Given the description of an element on the screen output the (x, y) to click on. 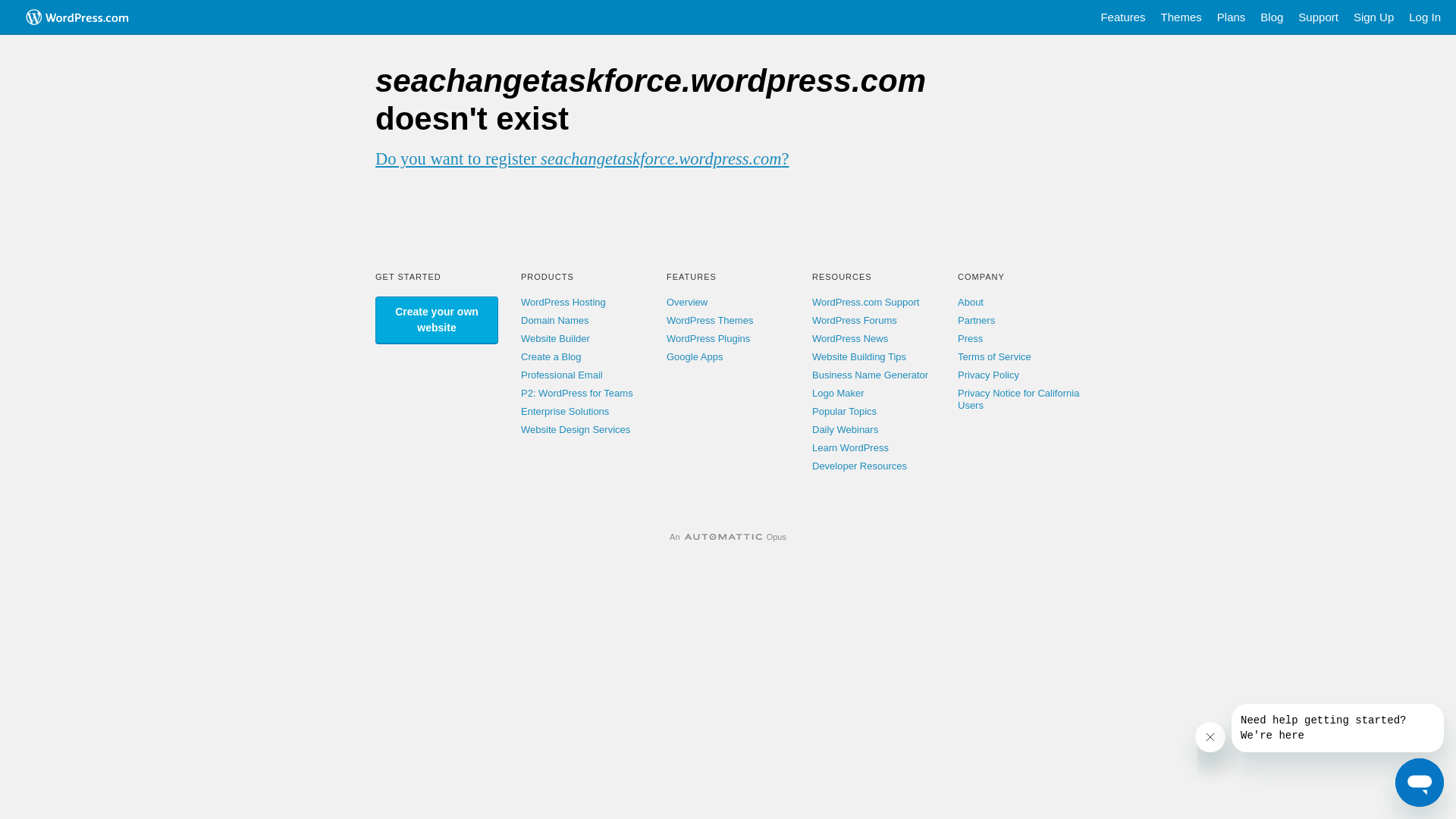
WordPress Forums Element type: text (854, 320)
Message from company Element type: hover (1337, 727)
Do you want to register seachangetaskforce.wordpress.com? Element type: text (582, 158)
Business Name Generator Element type: text (870, 374)
About Element type: text (970, 301)
Themes Element type: text (1181, 17)
Support Element type: text (1318, 17)
Privacy Notice for California Users Element type: text (1018, 399)
Website Building Tips Element type: text (859, 356)
Overview Element type: text (686, 301)
Press Element type: text (969, 338)
Professional Email Element type: text (561, 374)
Terms of Service Element type: text (994, 356)
Button to launch messaging window Element type: hover (1419, 782)
Features Element type: text (1122, 17)
WordPress Plugins Element type: text (707, 338)
Plans Element type: text (1231, 17)
Learn WordPress Element type: text (850, 447)
Website Design Services Element type: text (575, 429)
WordPress News Element type: text (850, 338)
WordPress Themes Element type: text (709, 320)
Popular Topics Element type: text (844, 411)
P2: WordPress for Teams Element type: text (576, 392)
Sign Up Element type: text (1373, 17)
Developer Resources Element type: text (859, 465)
Website Builder Element type: text (554, 338)
Create your own website Element type: text (436, 320)
Google Apps Element type: text (694, 356)
Daily Webinars Element type: text (845, 429)
Privacy Policy Element type: text (988, 374)
Create a Blog Element type: text (550, 356)
WordPress.com Support Element type: text (865, 301)
Partners Element type: text (975, 320)
Close message Element type: hover (1210, 736)
Enterprise Solutions Element type: text (564, 411)
Logo Maker Element type: text (838, 392)
Automattic Element type: text (723, 536)
WordPress Hosting Element type: text (562, 301)
Log In Element type: text (1424, 17)
Blog Element type: text (1271, 17)
Domain Names Element type: text (554, 320)
